Given the description of an element on the screen output the (x, y) to click on. 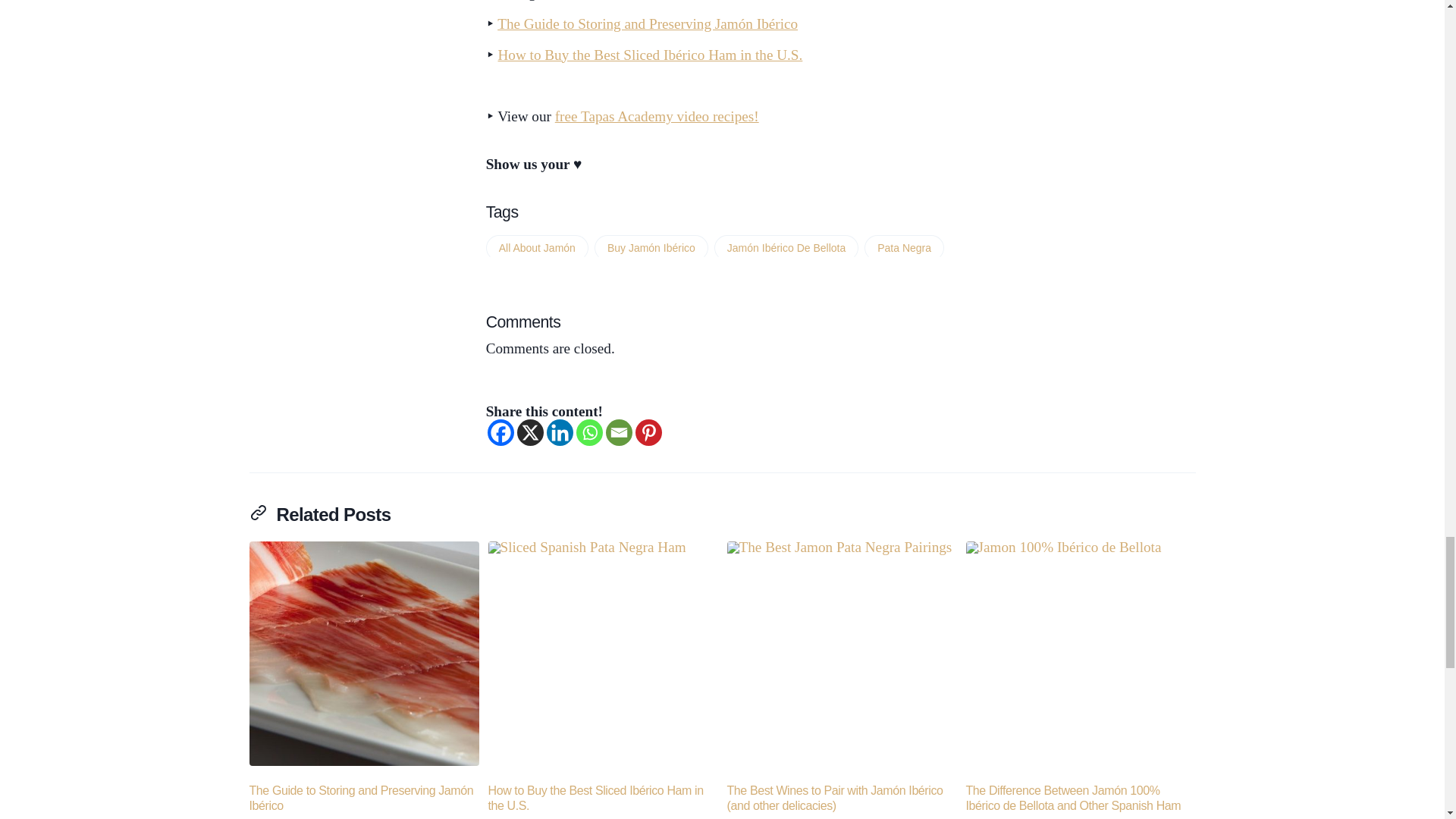
Facebook (500, 432)
Feature image (1080, 656)
Whatsapp (589, 432)
Feature image (602, 656)
Feature image (841, 656)
Feature image (363, 653)
pata negra (903, 248)
Pinterest (648, 432)
Email (618, 432)
X (529, 432)
